Given the description of an element on the screen output the (x, y) to click on. 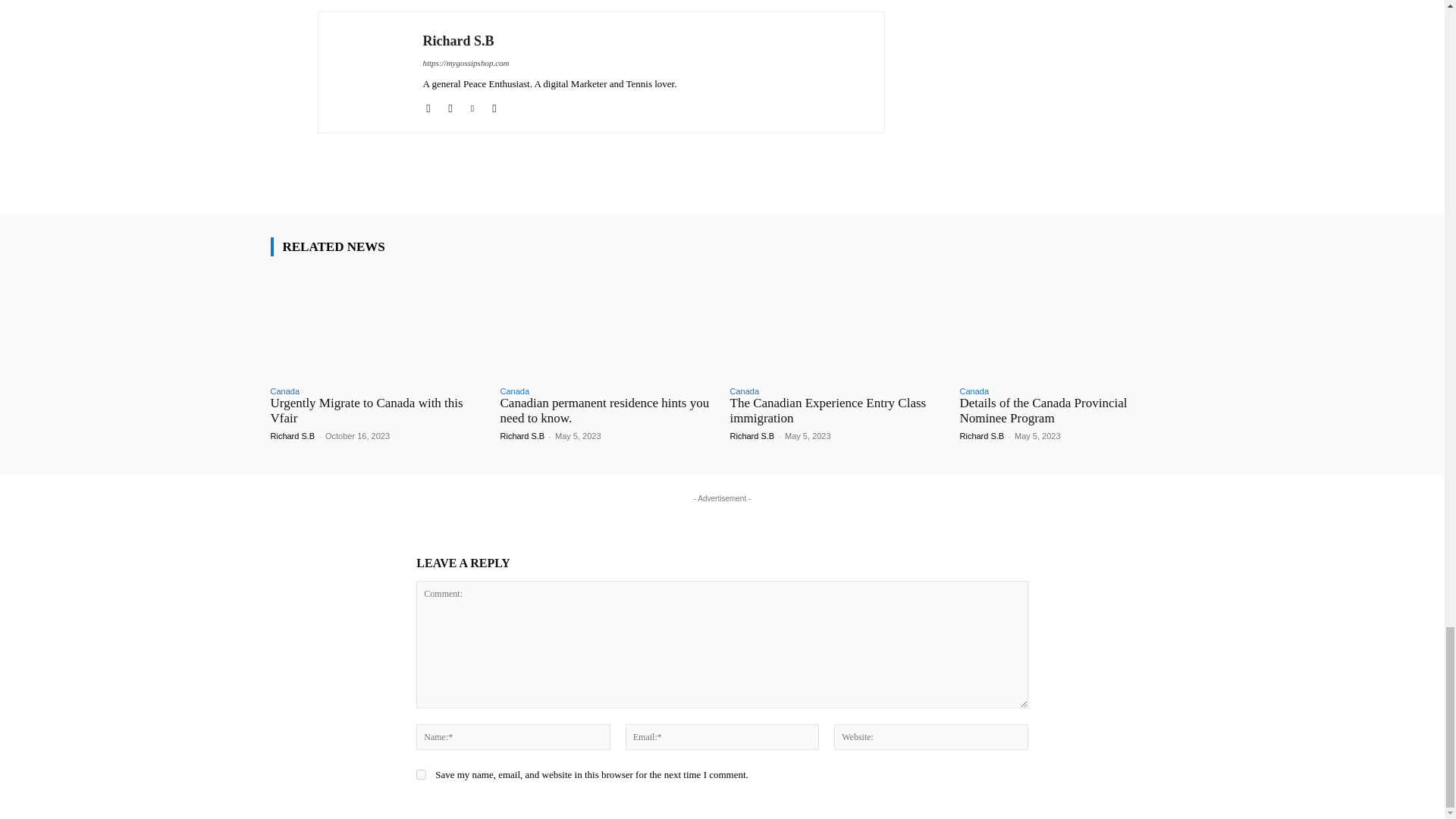
yes (421, 774)
twitter (473, 105)
facebook (428, 105)
youtube (493, 105)
instagram (449, 105)
